Given the description of an element on the screen output the (x, y) to click on. 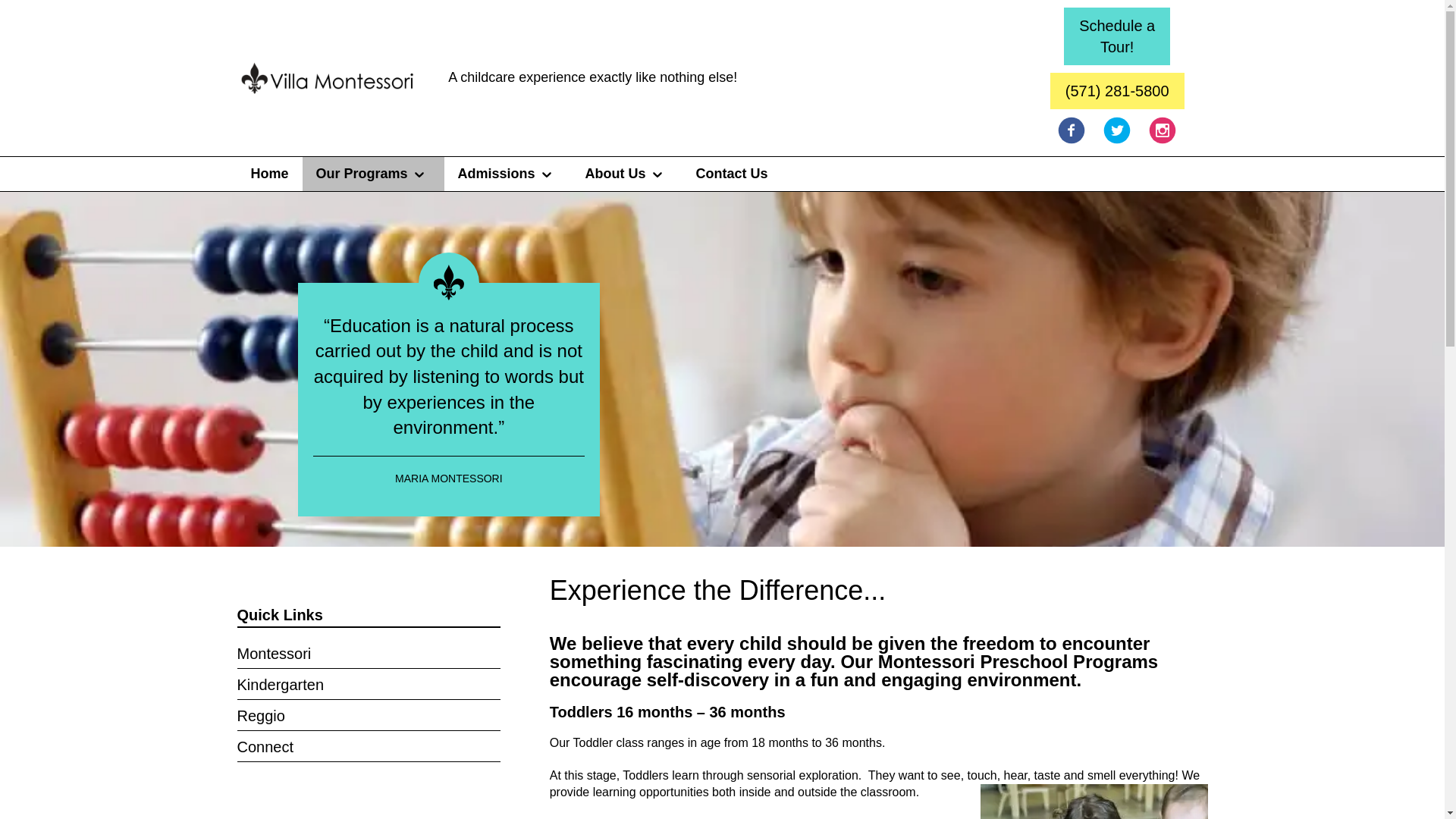
Facebook (1071, 130)
Our Programs (1093, 801)
Montessori (367, 655)
Connect (367, 749)
Reggio (367, 718)
About Us (1116, 36)
Instagram (627, 173)
Admissions (1162, 130)
Kindergarten (508, 173)
Contact Us (367, 687)
Home (731, 173)
Our Programs (268, 173)
Twitter (373, 173)
